Given the description of an element on the screen output the (x, y) to click on. 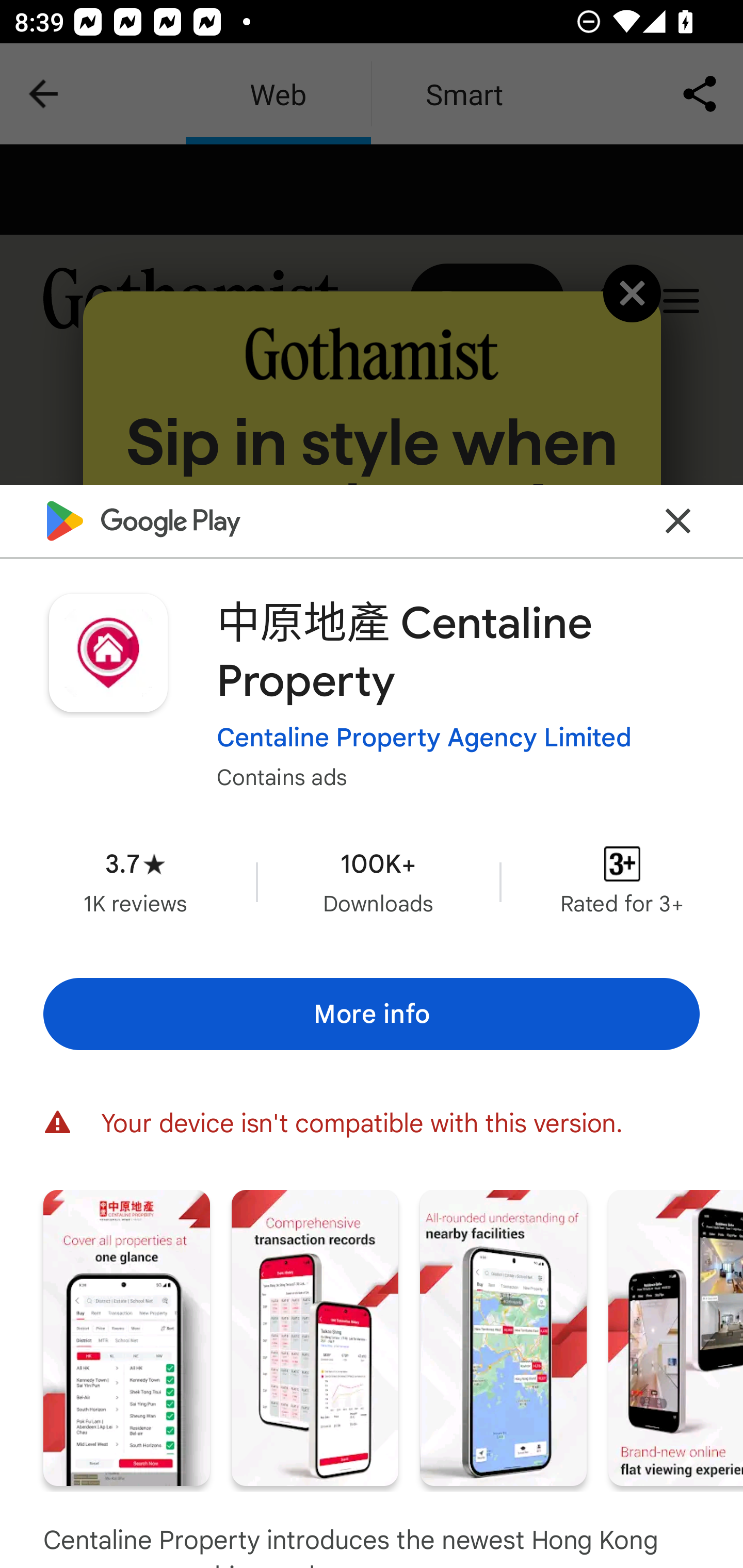
Close (677, 520)
Centaline Property Agency Limited (423, 737)
More info (371, 1014)
Screenshot "1" of "8" (126, 1338)
Screenshot "2" of "8" (314, 1338)
Screenshot "3" of "8" (502, 1338)
Screenshot "4" of "8" (675, 1338)
